Given the description of an element on the screen output the (x, y) to click on. 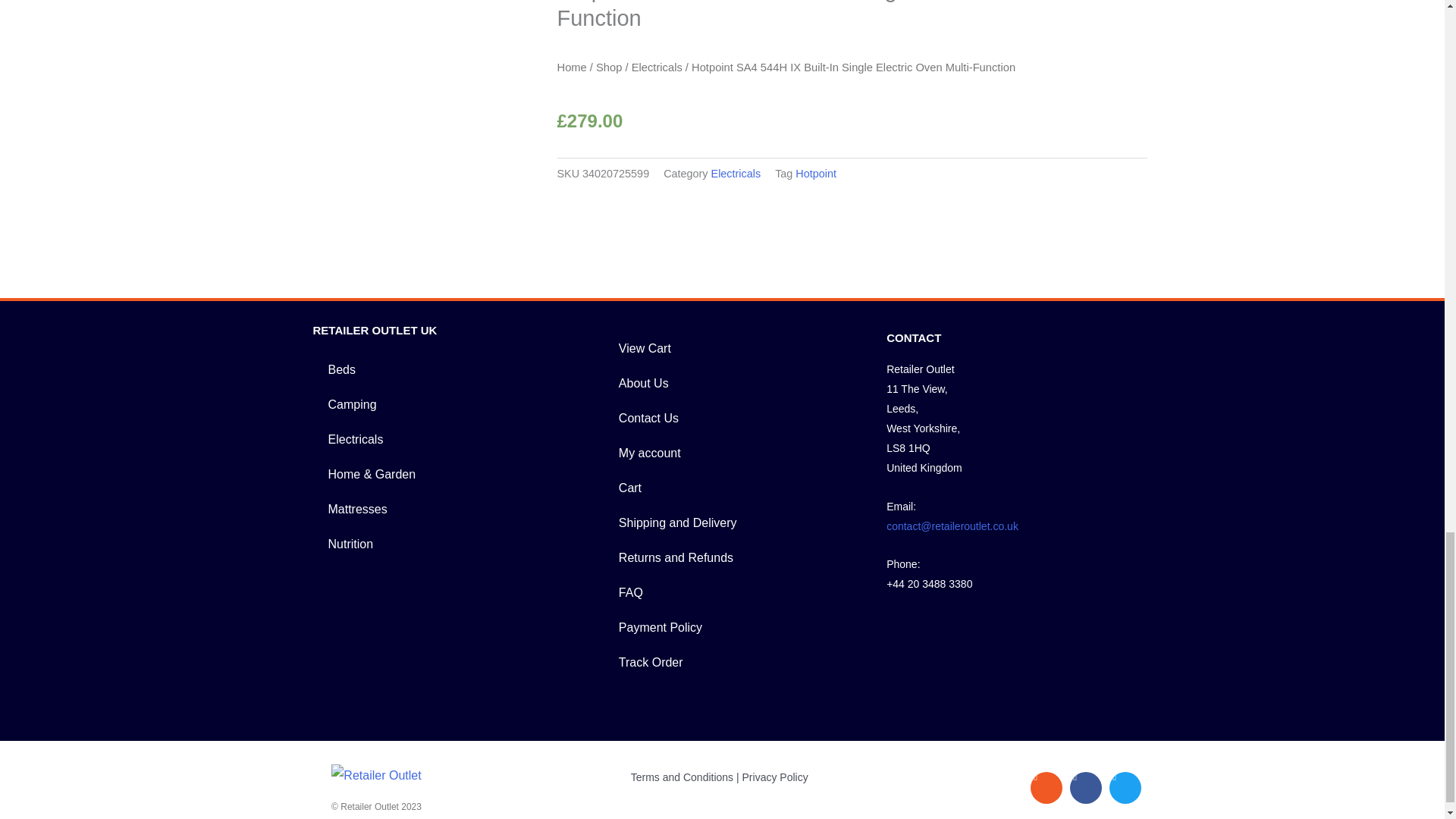
RO Logo (375, 775)
